Given the description of an element on the screen output the (x, y) to click on. 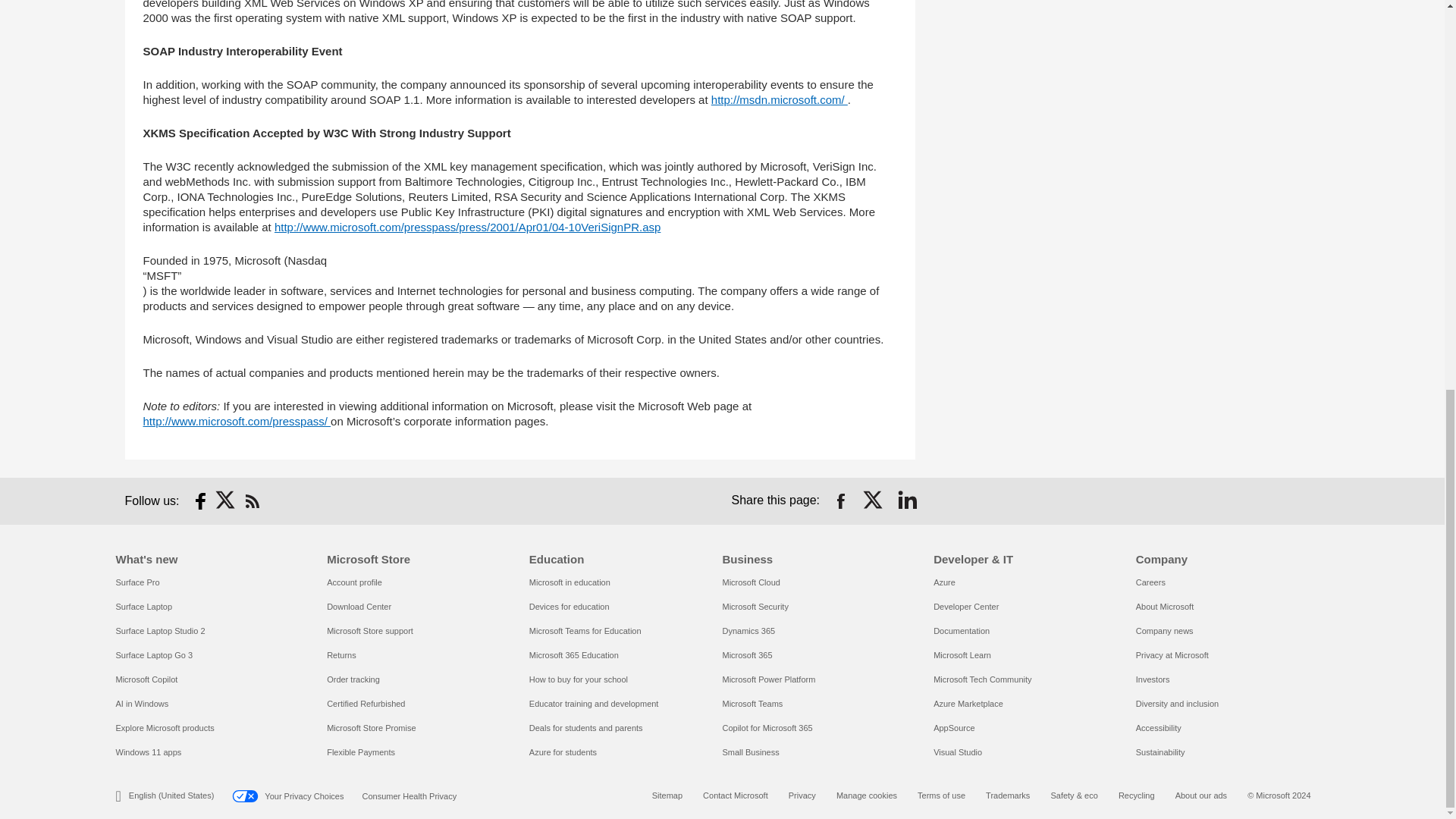
RSS Subscription (252, 500)
Share on Twitter (873, 500)
Share on LinkedIn (907, 500)
Follow on Facebook (200, 500)
Share on Facebook (840, 500)
Follow on Twitter (226, 500)
